Given the description of an element on the screen output the (x, y) to click on. 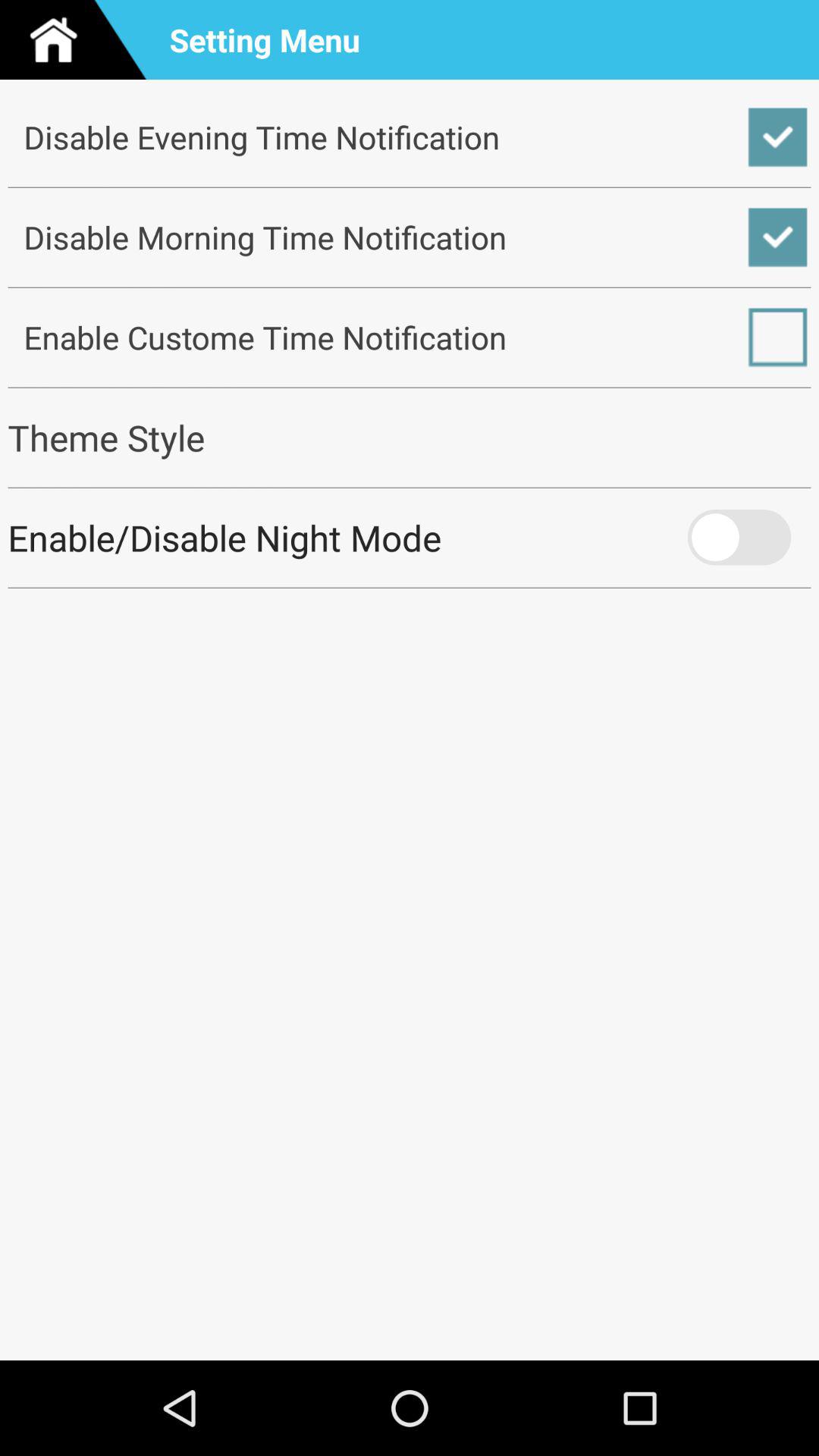
scroll until enable custome time icon (409, 337)
